Given the description of an element on the screen output the (x, y) to click on. 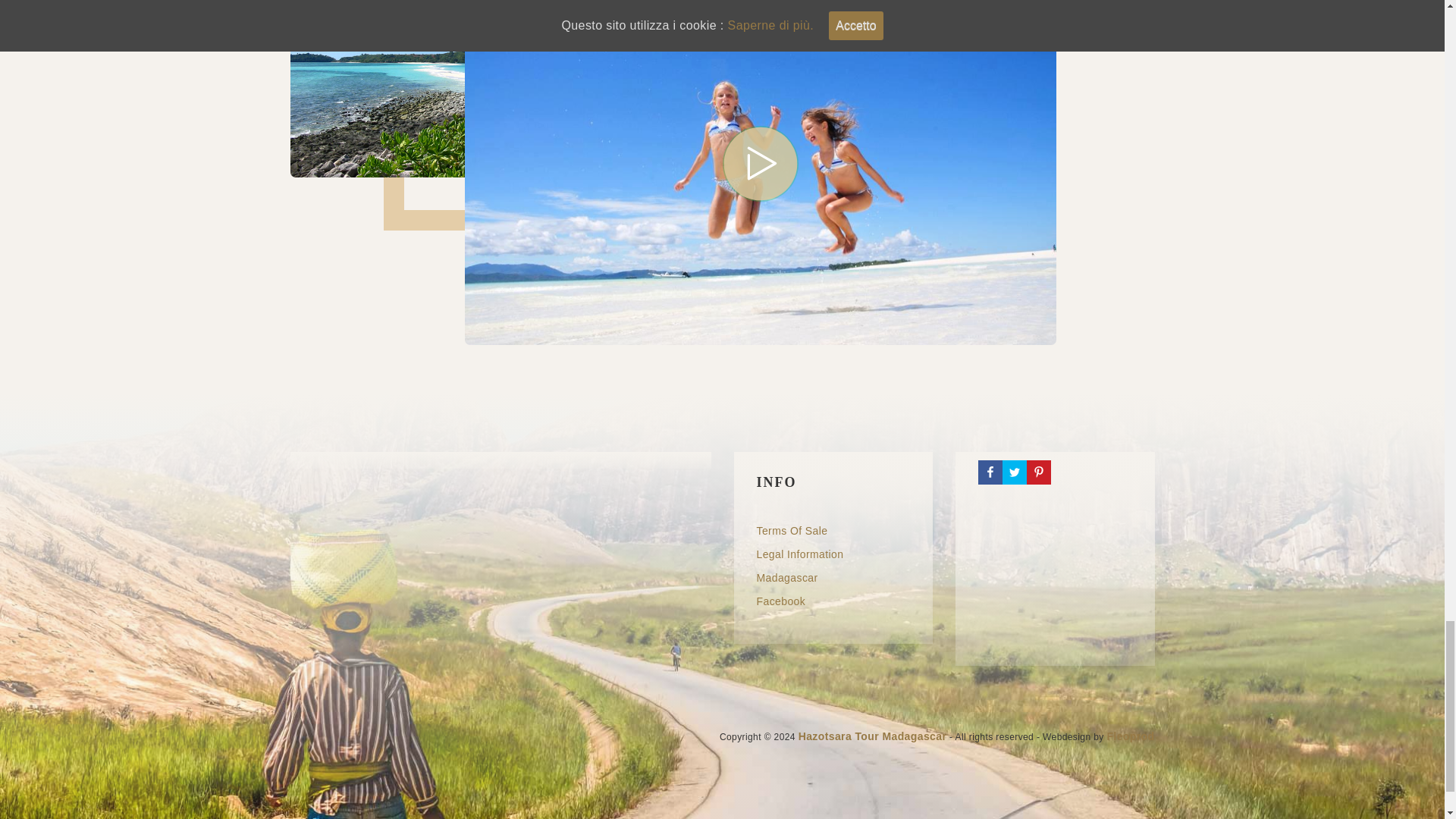
Share on Twitter (1014, 472)
Share on Facebook (990, 472)
Share on Pinterest (1038, 472)
